Given the description of an element on the screen output the (x, y) to click on. 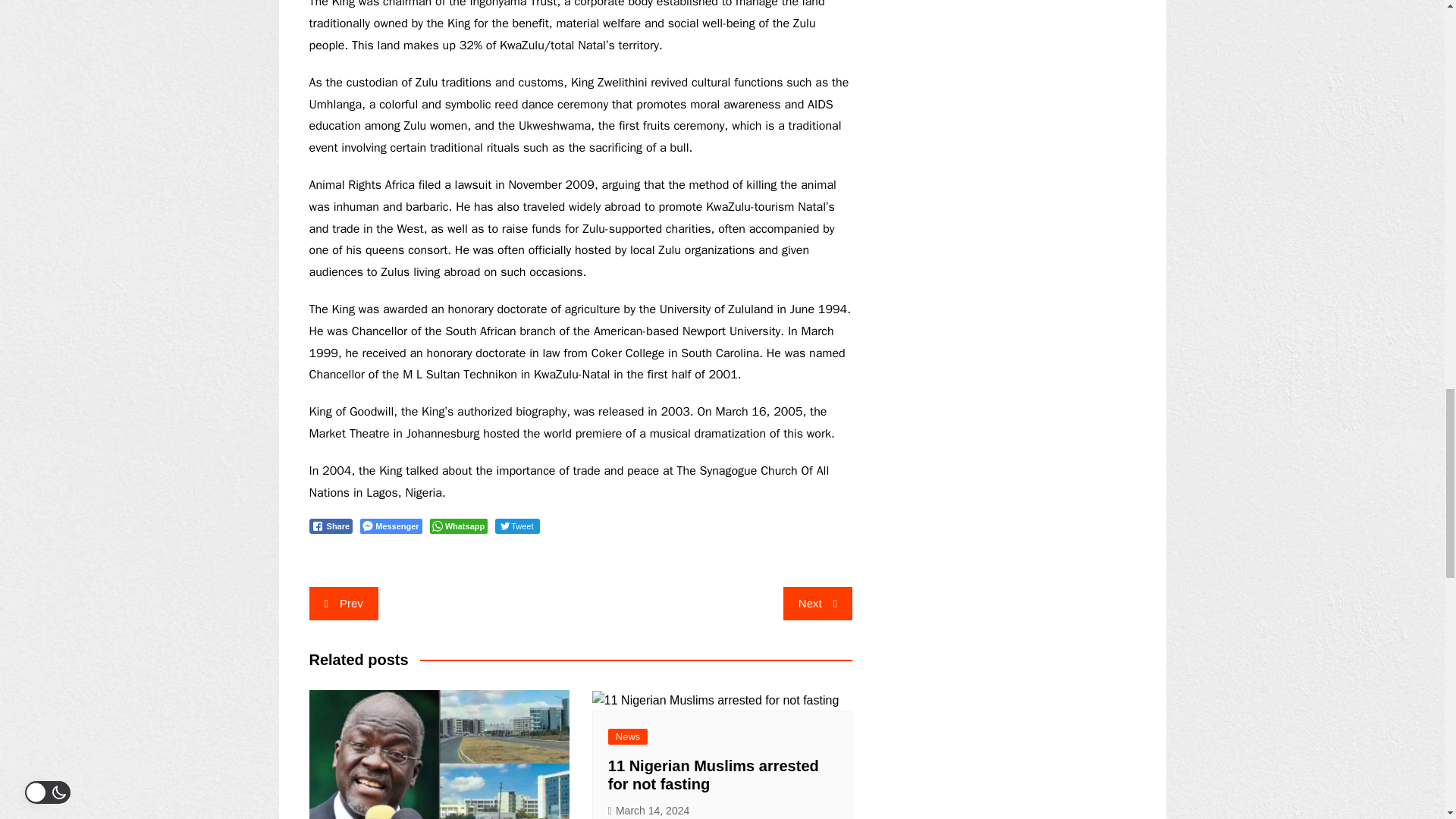
11 Nigerian Muslims arrested for not fasting (713, 774)
Share (330, 525)
Prev (343, 603)
Messenger (390, 525)
News (627, 736)
Tweet (516, 525)
Next (817, 603)
Whatsapp (458, 525)
